Given the description of an element on the screen output the (x, y) to click on. 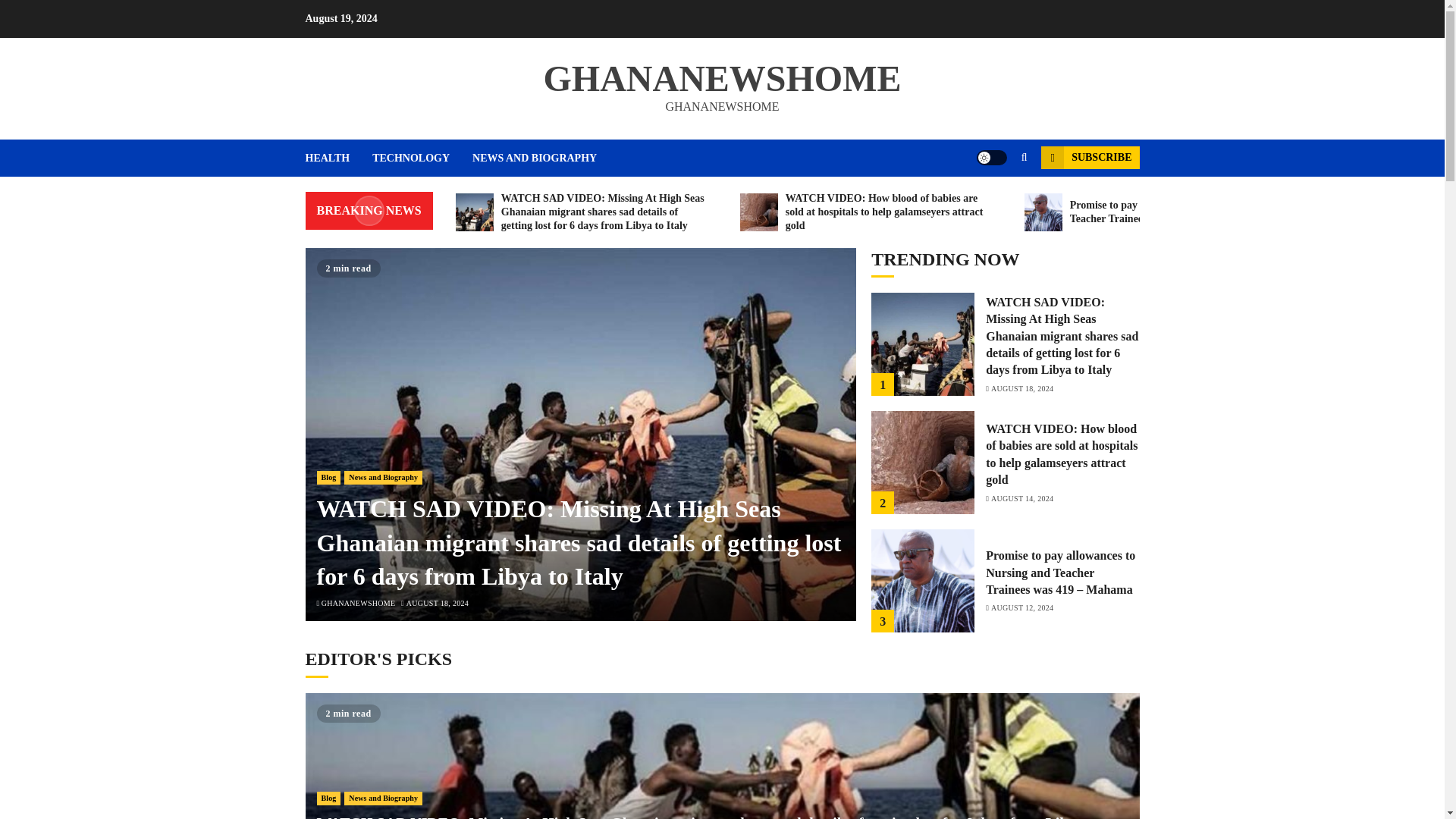
SUBSCRIBE (1089, 157)
TECHNOLOGY (421, 157)
Search (994, 203)
NEWS AND BIOGRAPHY (533, 157)
Blog (328, 477)
GHANANEWSHOME (358, 603)
HEALTH (338, 157)
